Given the description of an element on the screen output the (x, y) to click on. 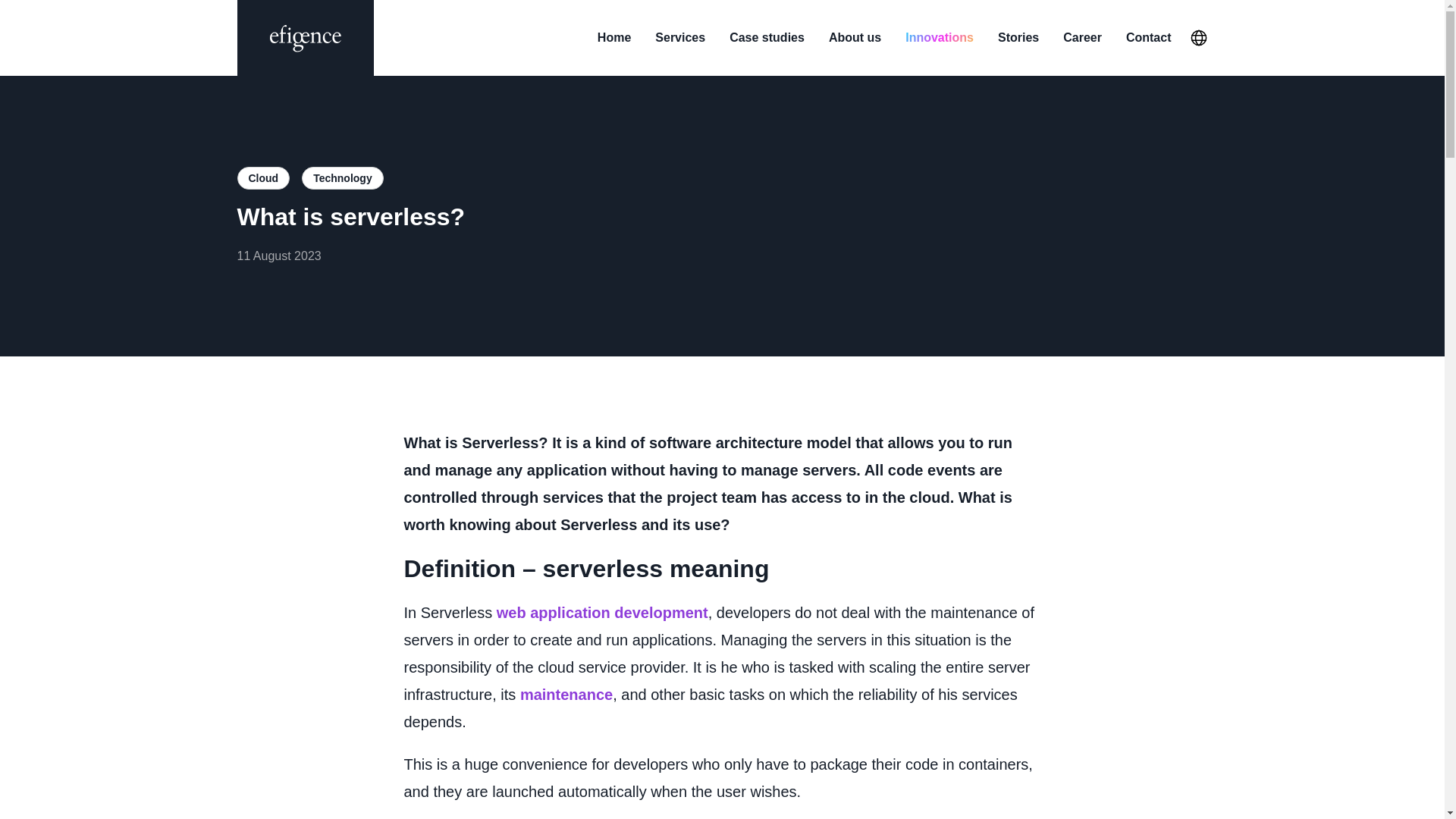
Home (613, 37)
Technology (342, 178)
maintenance (565, 694)
Career (1082, 37)
web application development (601, 612)
Stories (1018, 37)
Services (679, 37)
Case studies (767, 37)
Cloud (262, 178)
Innovations (939, 37)
